Given the description of an element on the screen output the (x, y) to click on. 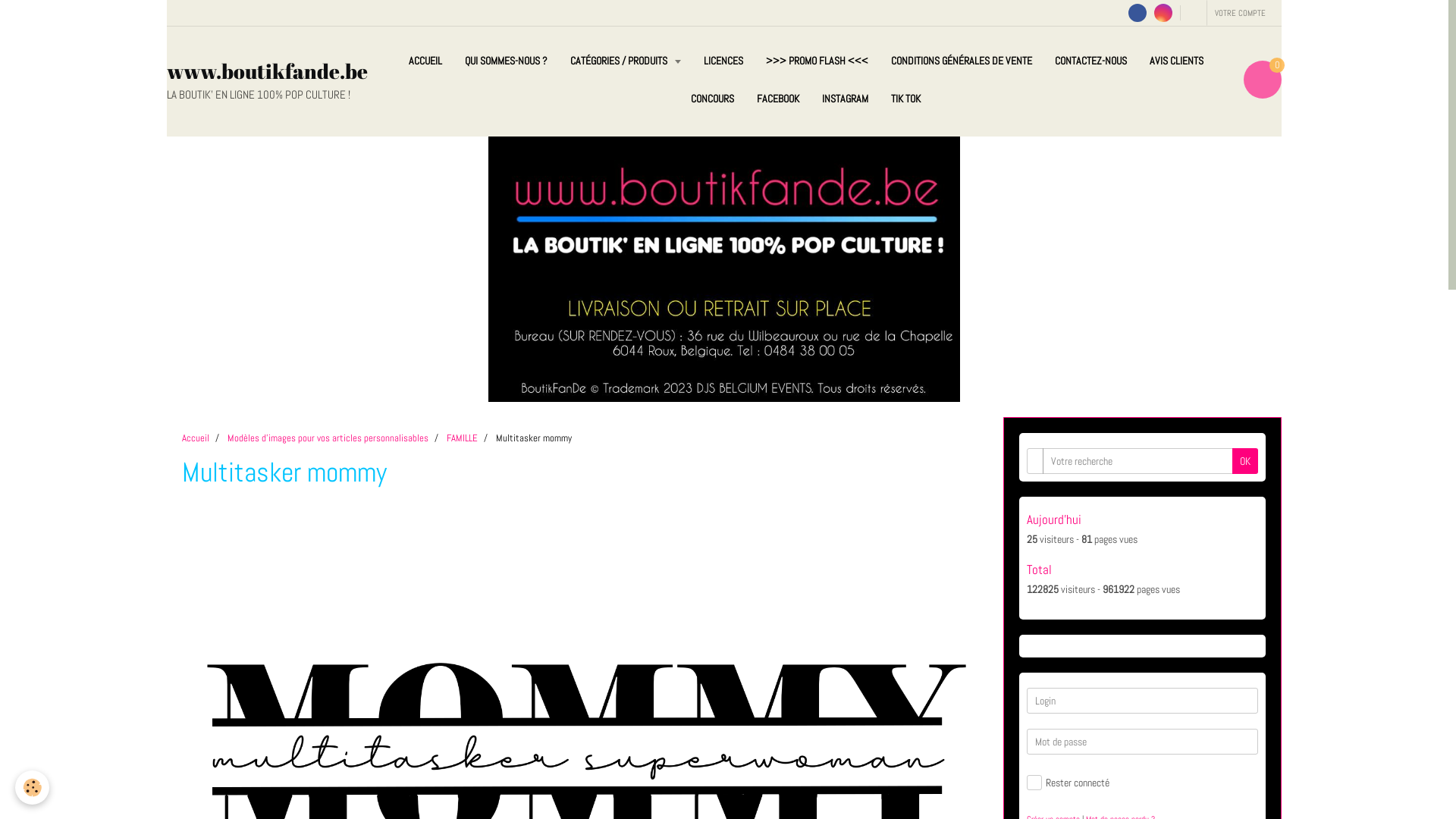
Accueil Element type: text (195, 438)
0 Element type: text (1262, 79)
OK Element type: text (1245, 460)
FACEBOOK Element type: text (777, 98)
LICENCES Element type: text (722, 60)
CONTACTEZ-NOUS Element type: text (1090, 60)
INSTAGRAM Element type: text (844, 98)
www.boutikfande.be
LA BOUTIK' EN LIGNE 100% POP CULTURE ! Element type: text (266, 79)
ACCUEIL Element type: text (425, 60)
>>> PROMO FLASH <<< Element type: text (815, 60)
QUI SOMMES-NOUS ? Element type: text (505, 60)
AVIS CLIENTS Element type: text (1175, 60)
CONCOURS Element type: text (712, 98)
VOTRE COMPTE Element type: text (1240, 12)
TIK TOK Element type: text (905, 98)
FAMILLE Element type: text (461, 438)
